Given the description of an element on the screen output the (x, y) to click on. 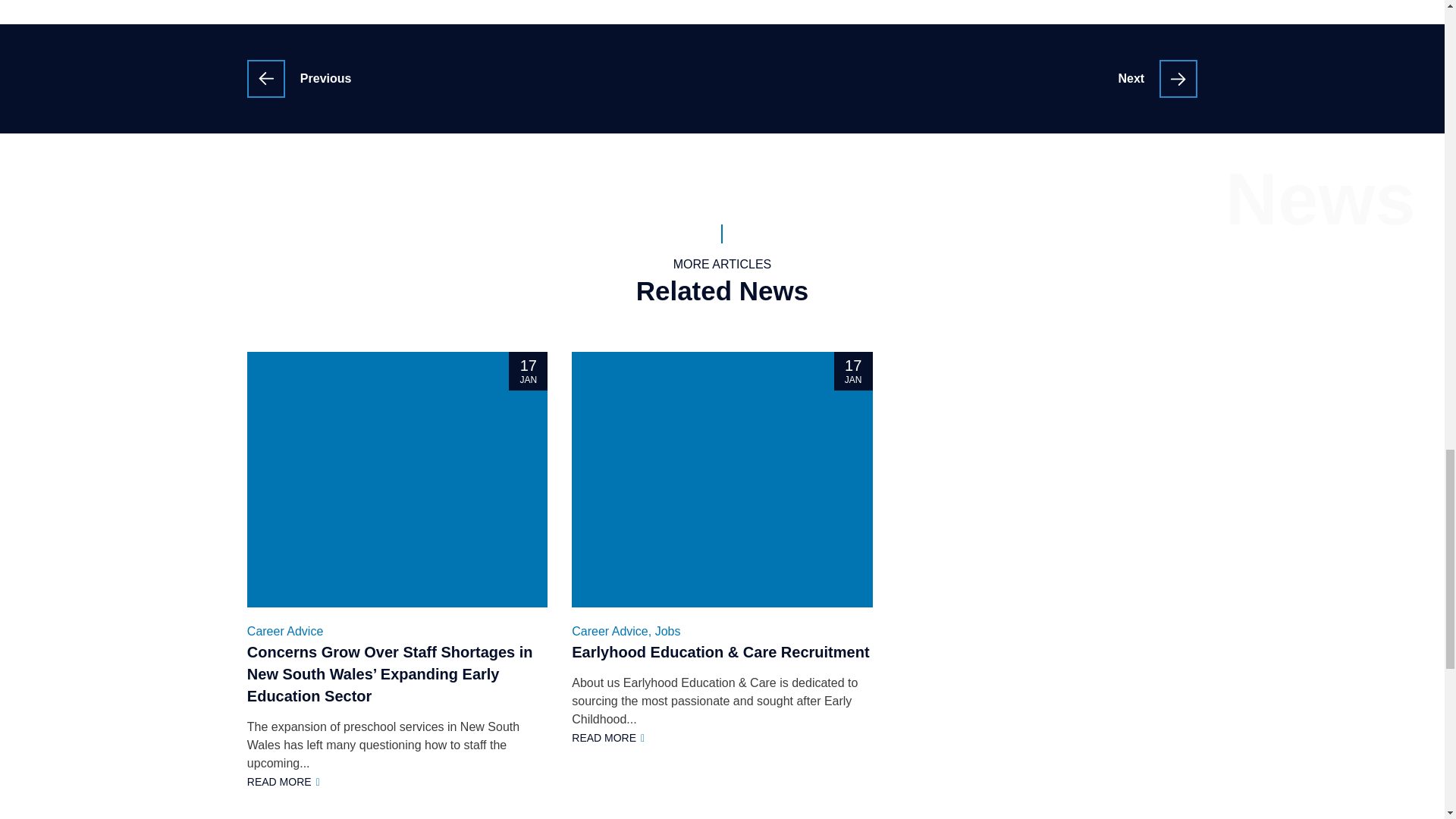
Previous (299, 78)
Next (397, 479)
READ MORE (1157, 78)
